Given the description of an element on the screen output the (x, y) to click on. 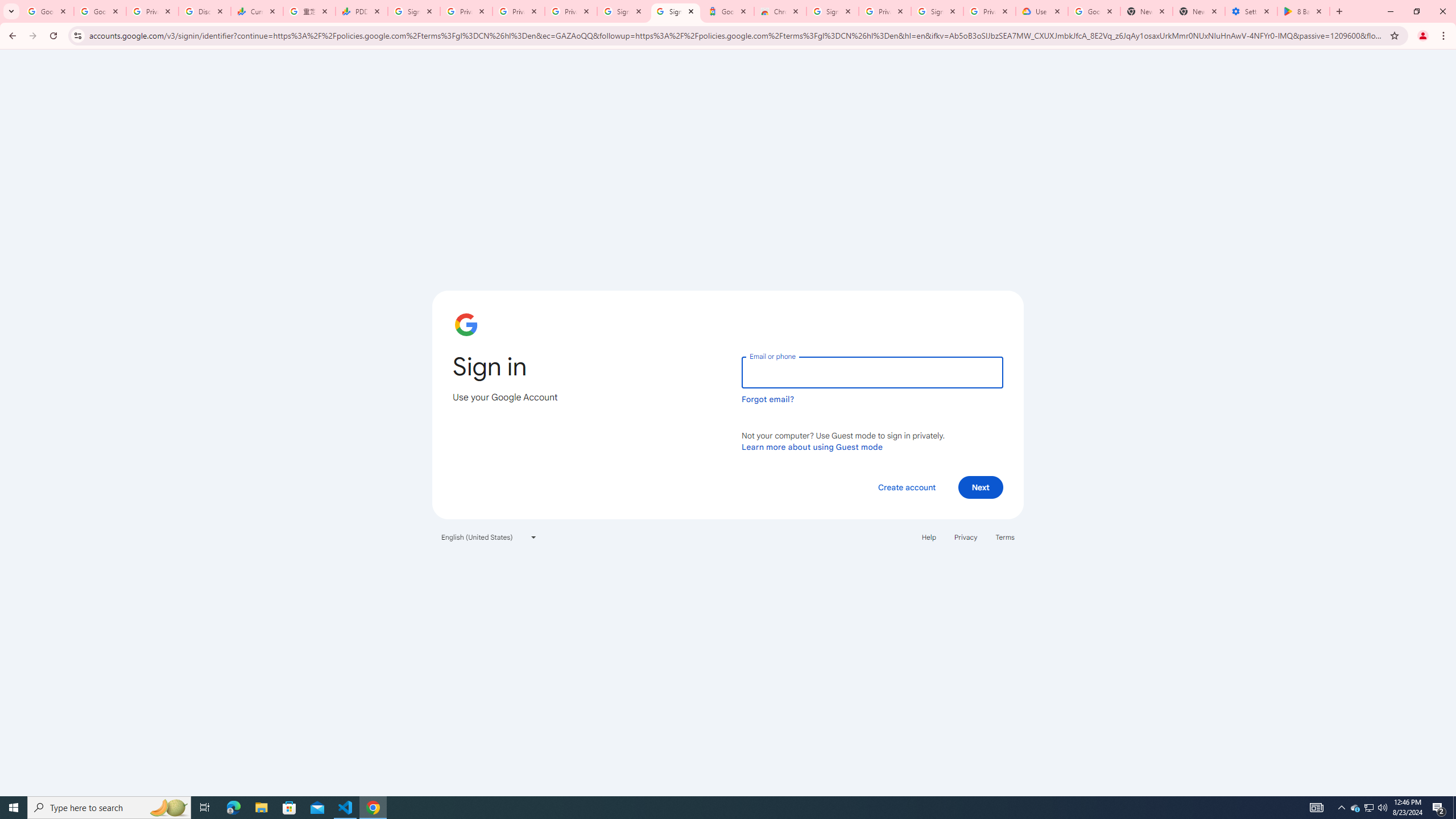
Sign in - Google Accounts (676, 11)
Settings - System (1251, 11)
PDD Holdings Inc - ADR (PDD) Price & News - Google Finance (361, 11)
Sign in - Google Accounts (936, 11)
